Given the description of an element on the screen output the (x, y) to click on. 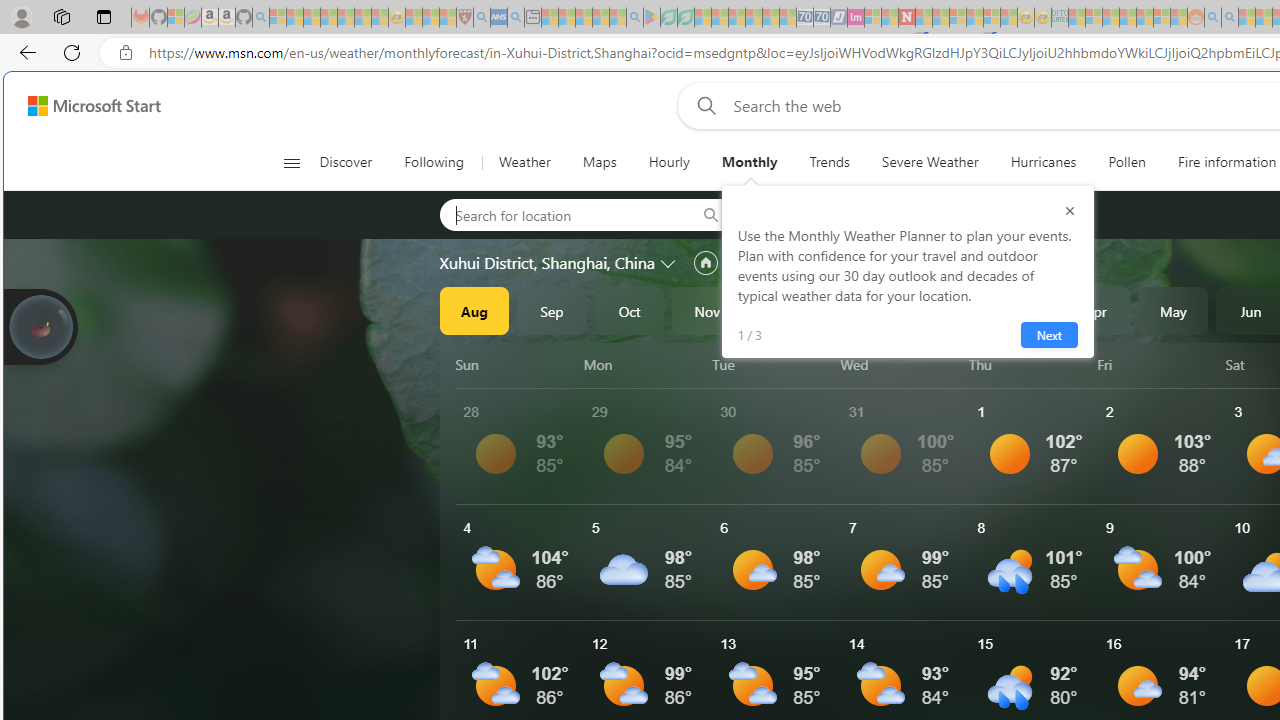
Utah sues federal government - Search - Sleeping (1229, 17)
2025 Jan (862, 310)
Trusted Community Engagement and Contributions | Guidelines (923, 17)
Monthly (749, 162)
Kinda Frugal - MSN - Sleeping (1144, 17)
Maps (599, 162)
Join us in planting real trees to help our planet! (40, 327)
Aug (474, 310)
Sun (516, 363)
Mar (1018, 310)
